Given the description of an element on the screen output the (x, y) to click on. 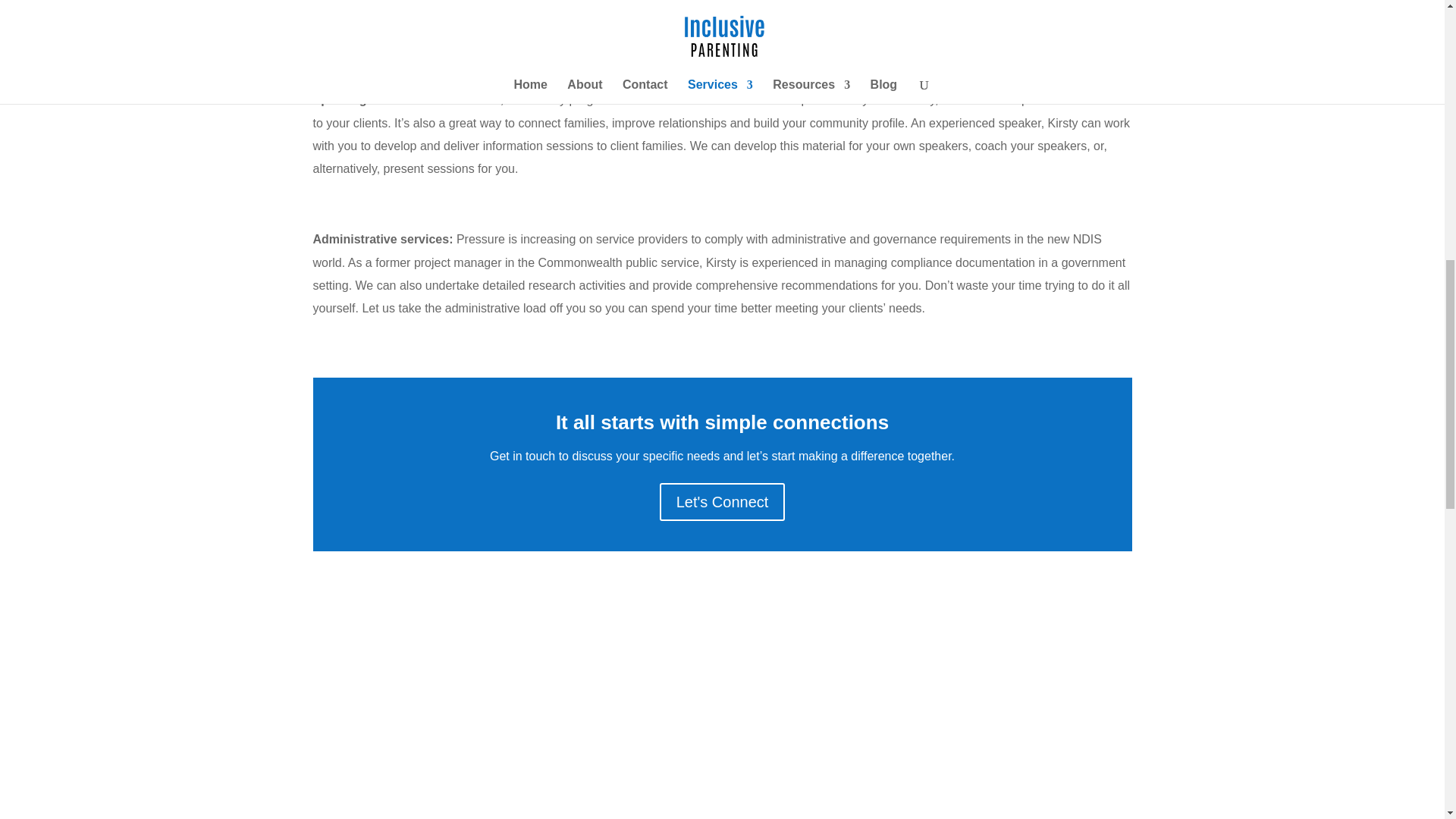
Let's Connect (722, 501)
